Given the description of an element on the screen output the (x, y) to click on. 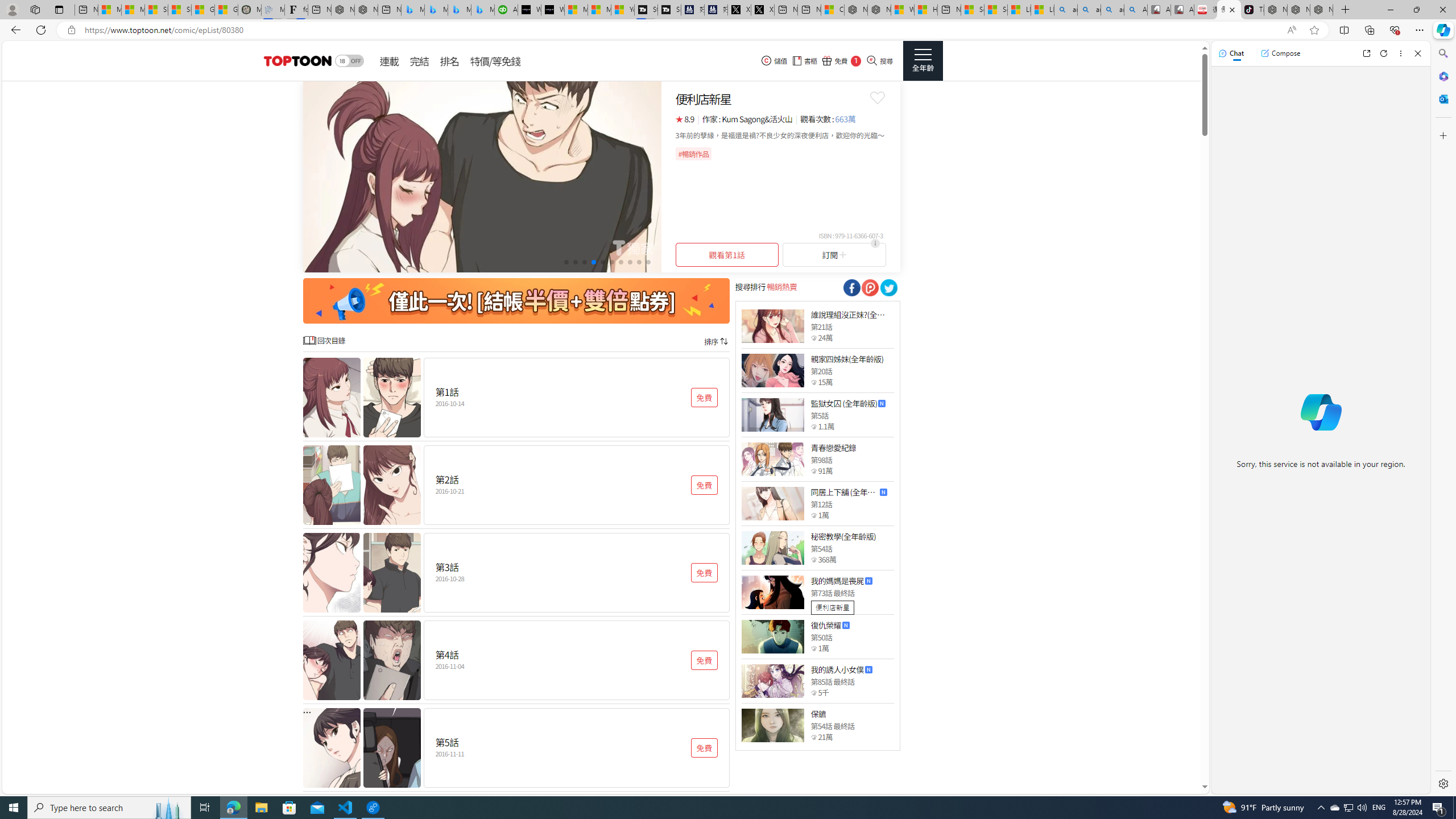
Go to slide 8 (629, 261)
Go to slide 5 (602, 261)
